Given the description of an element on the screen output the (x, y) to click on. 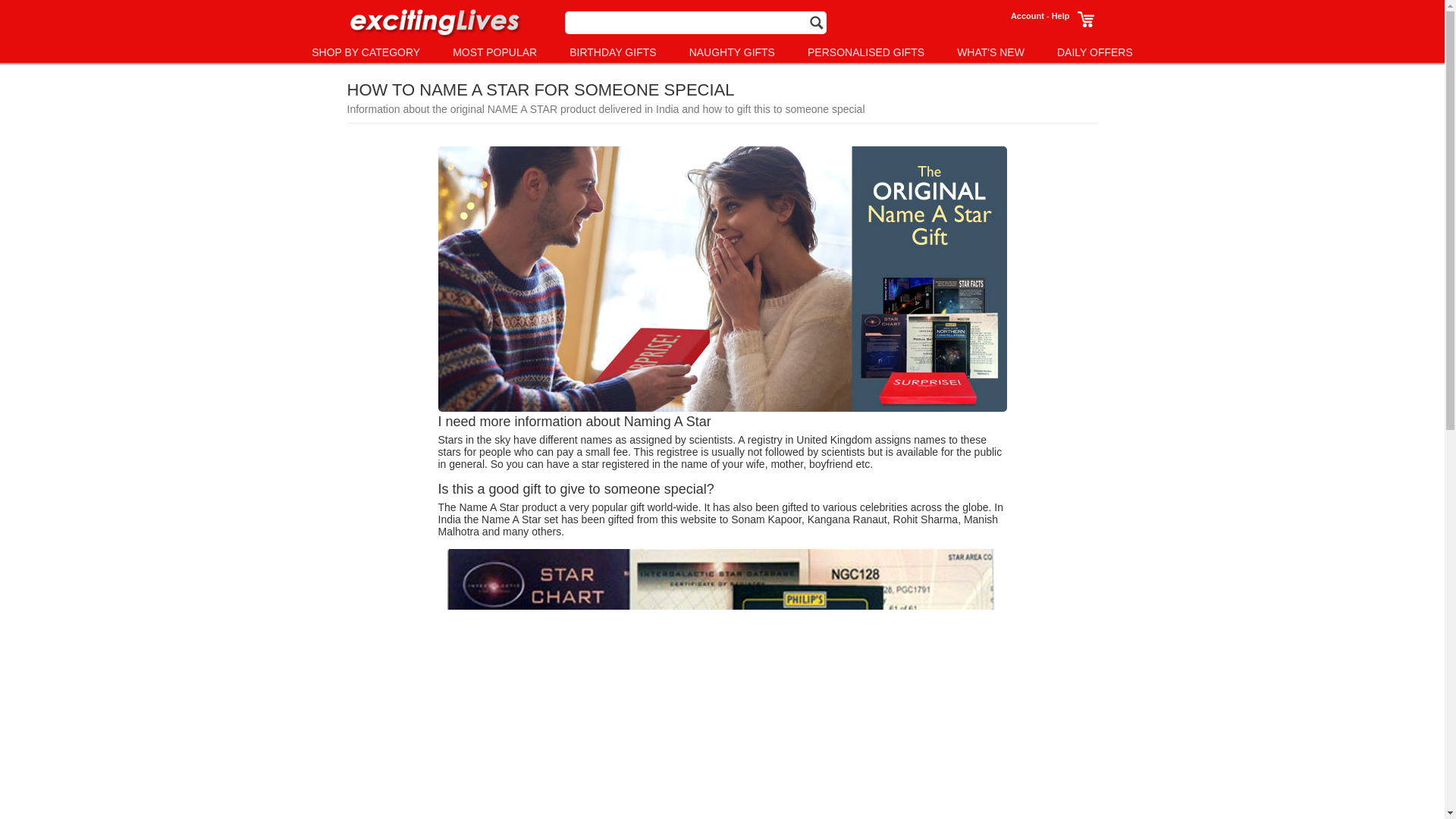
BIRTHDAY GIFTS (612, 51)
PERSONALISED GIFTS (866, 51)
MOST POPULAR (494, 51)
Help (1060, 15)
SHOP BY CATEGORY (365, 51)
NAUGHTY GIFTS (731, 51)
WHAT'S NEW (990, 51)
DAILY OFFERS (1094, 51)
Account (1026, 15)
search (816, 20)
